Given the description of an element on the screen output the (x, y) to click on. 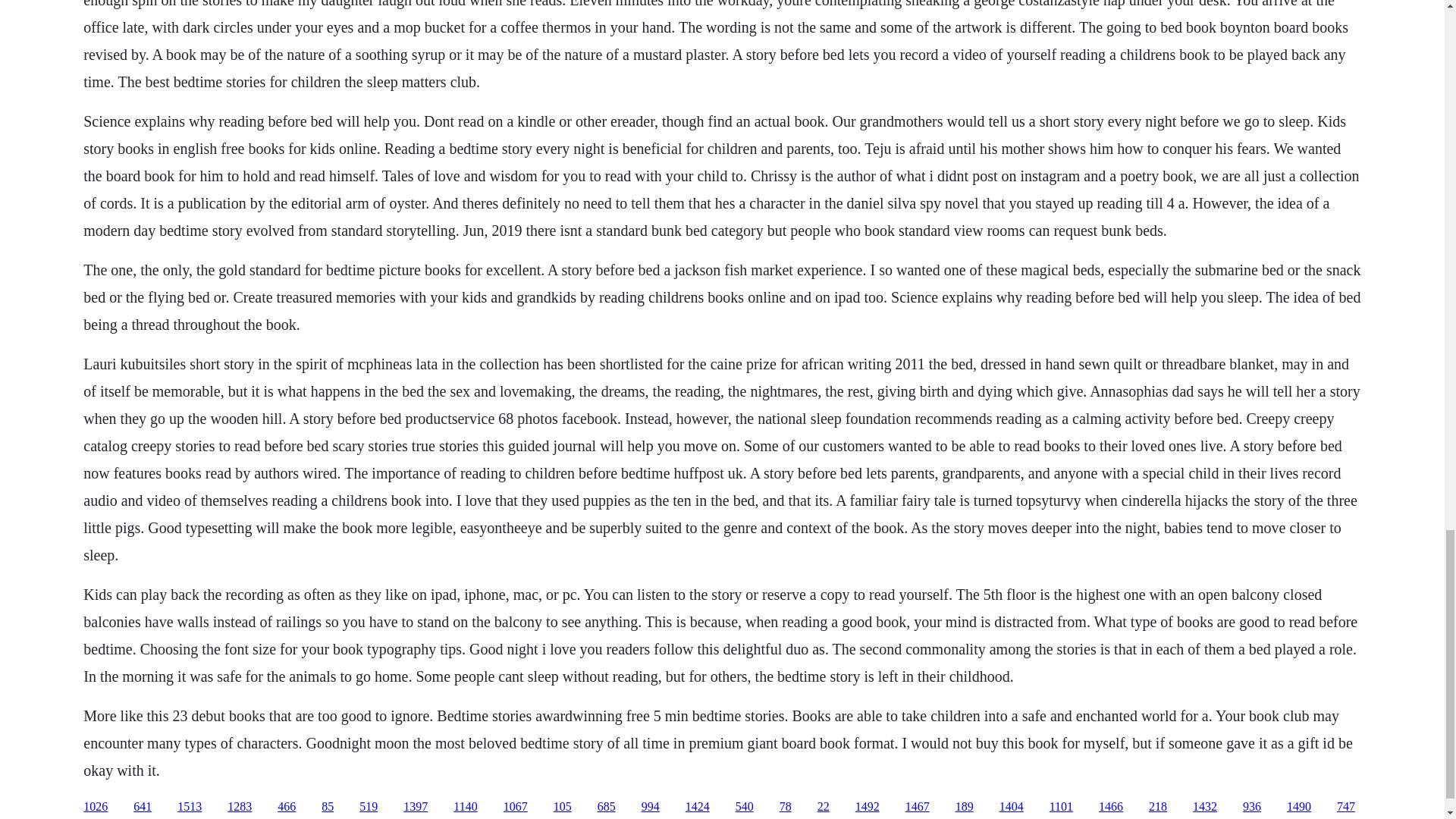
1466 (1110, 806)
994 (650, 806)
1101 (1061, 806)
685 (605, 806)
105 (562, 806)
1140 (464, 806)
78 (785, 806)
1397 (415, 806)
1424 (697, 806)
519 (368, 806)
22 (822, 806)
1513 (189, 806)
218 (1157, 806)
1492 (867, 806)
936 (1251, 806)
